Given the description of an element on the screen output the (x, y) to click on. 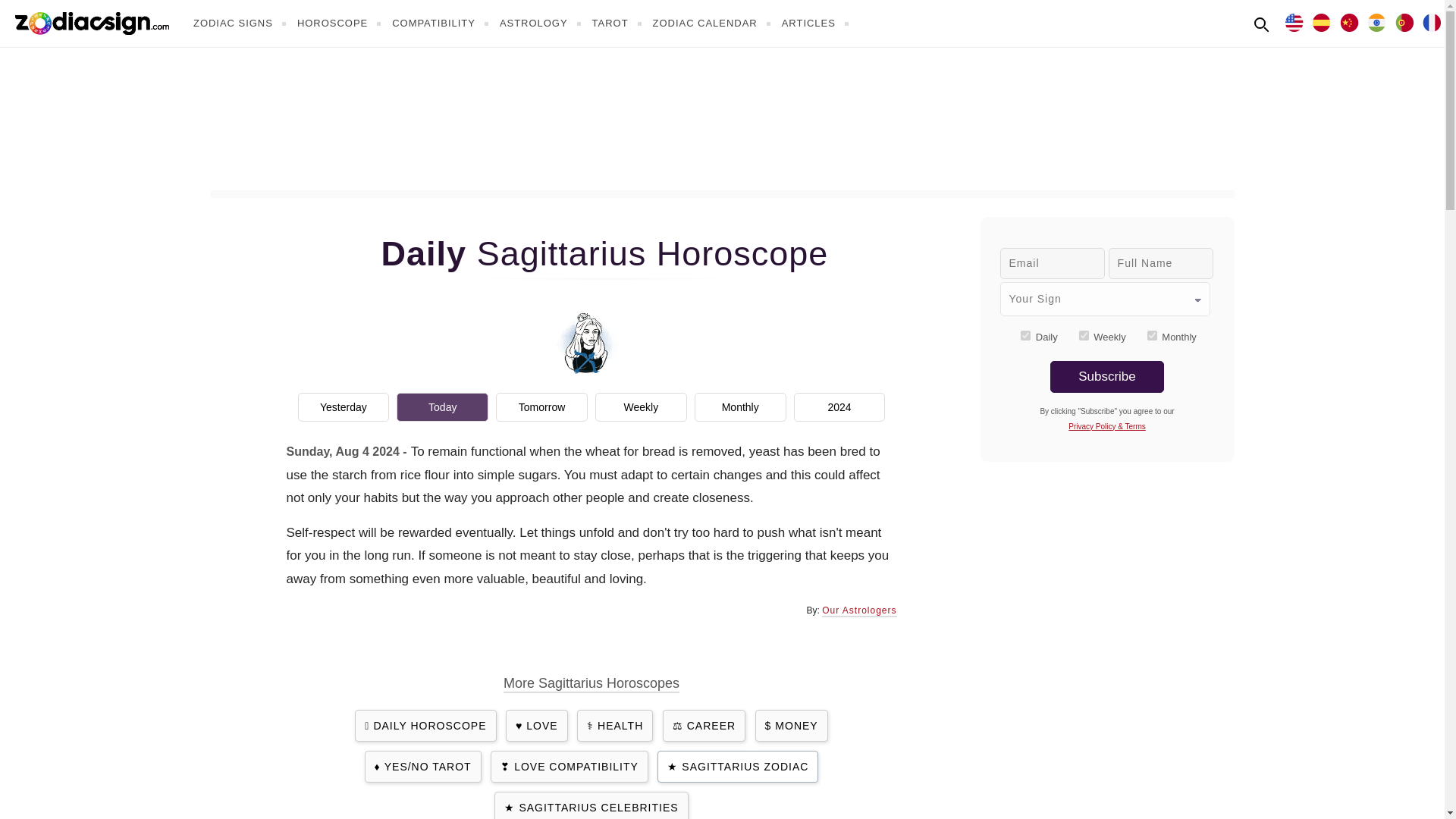
daily (1025, 335)
HOROSCOPE (341, 23)
ZODIAC SIGNS (241, 23)
weekly (1083, 335)
monthly (1152, 335)
In English (1294, 21)
